Given the description of an element on the screen output the (x, y) to click on. 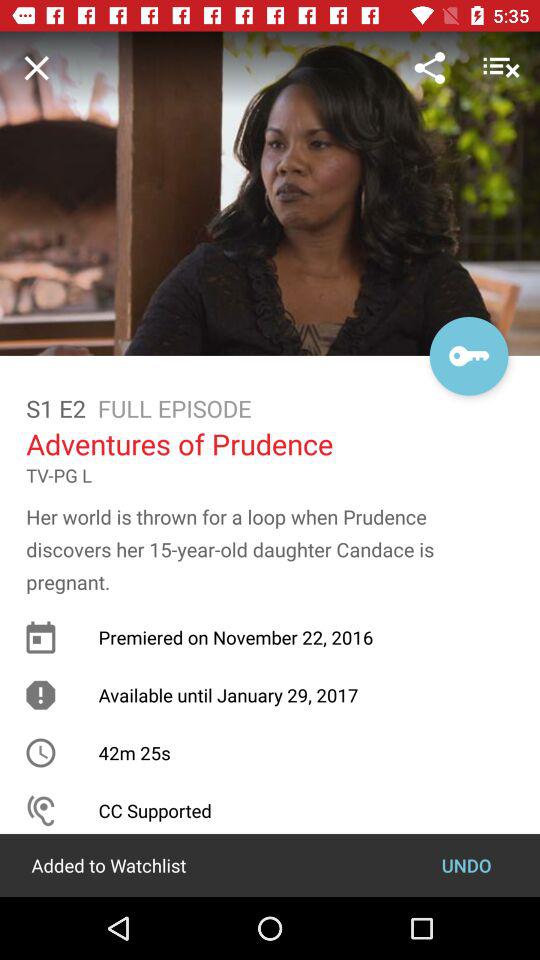
press undo icon (466, 864)
